Given the description of an element on the screen output the (x, y) to click on. 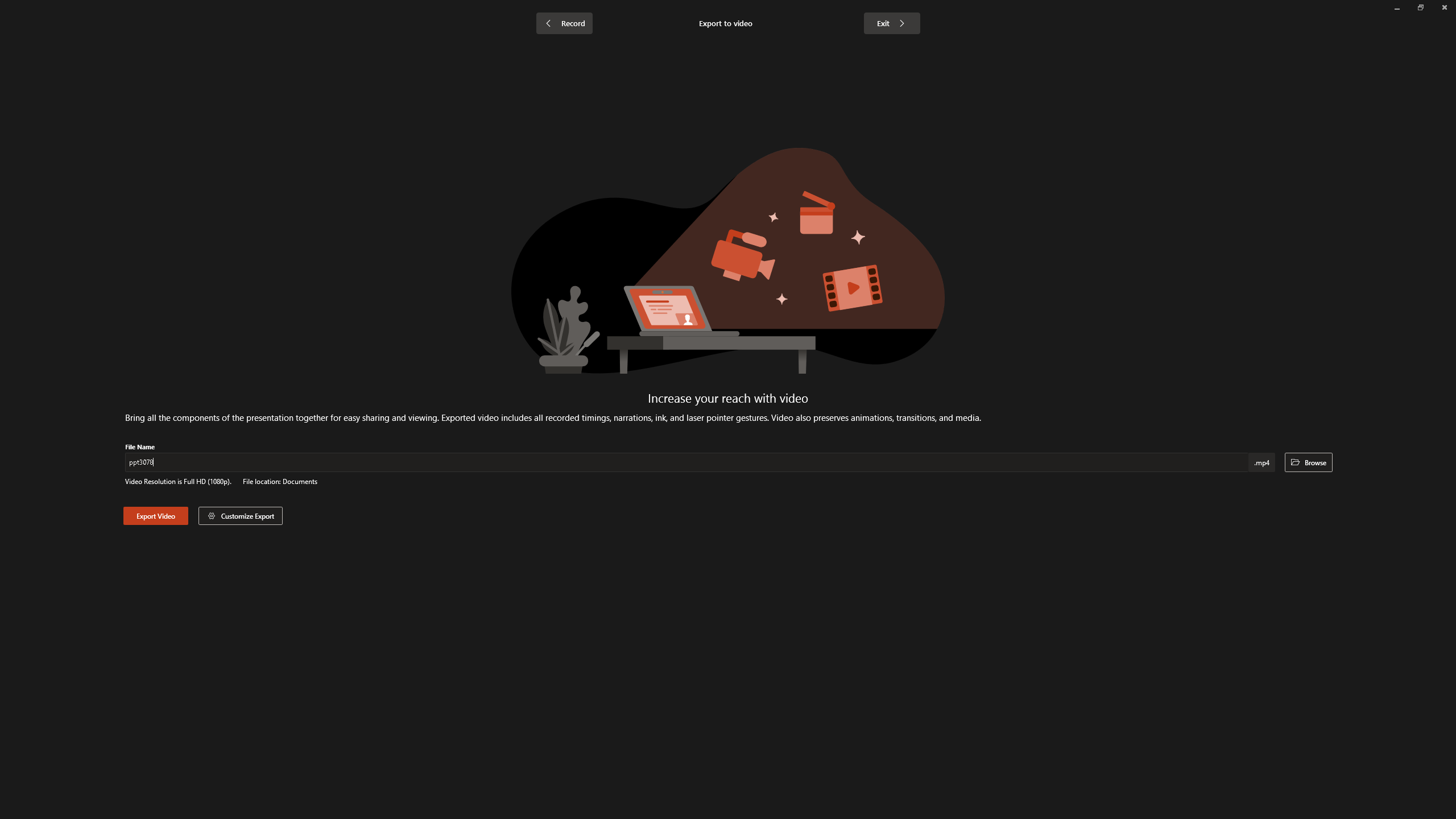
Filename (687, 464)
From Current Slide... (127, 58)
